Given the description of an element on the screen output the (x, y) to click on. 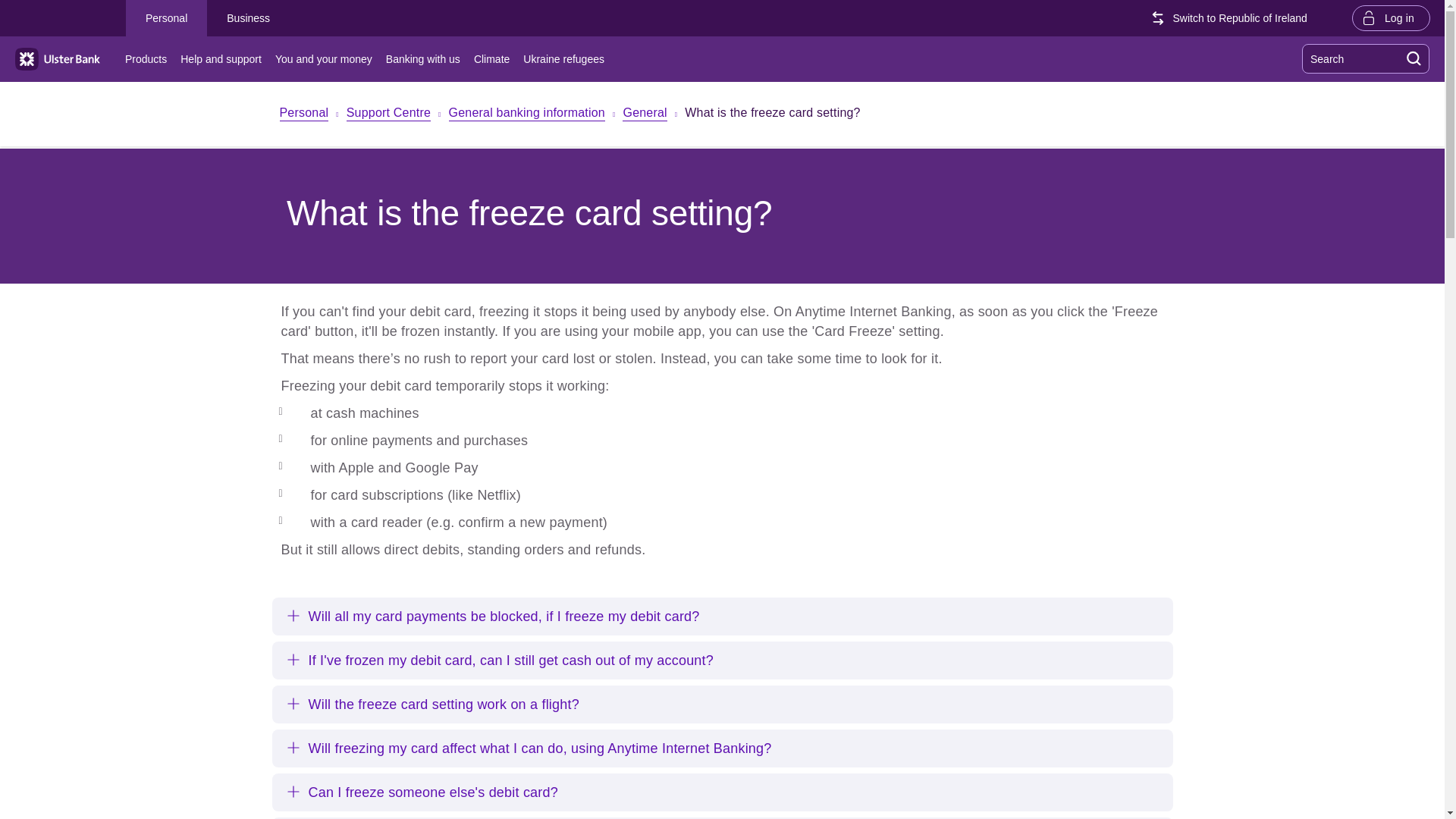
Log in (1390, 17)
Personal (304, 114)
Ulster Bank Logo (57, 59)
General (644, 114)
Products (149, 58)
Personal (165, 18)
General banking information (526, 114)
Business (247, 18)
Switch to Republic of Ireland (1233, 18)
What is the freeze card setting? (772, 115)
